Given the description of an element on the screen output the (x, y) to click on. 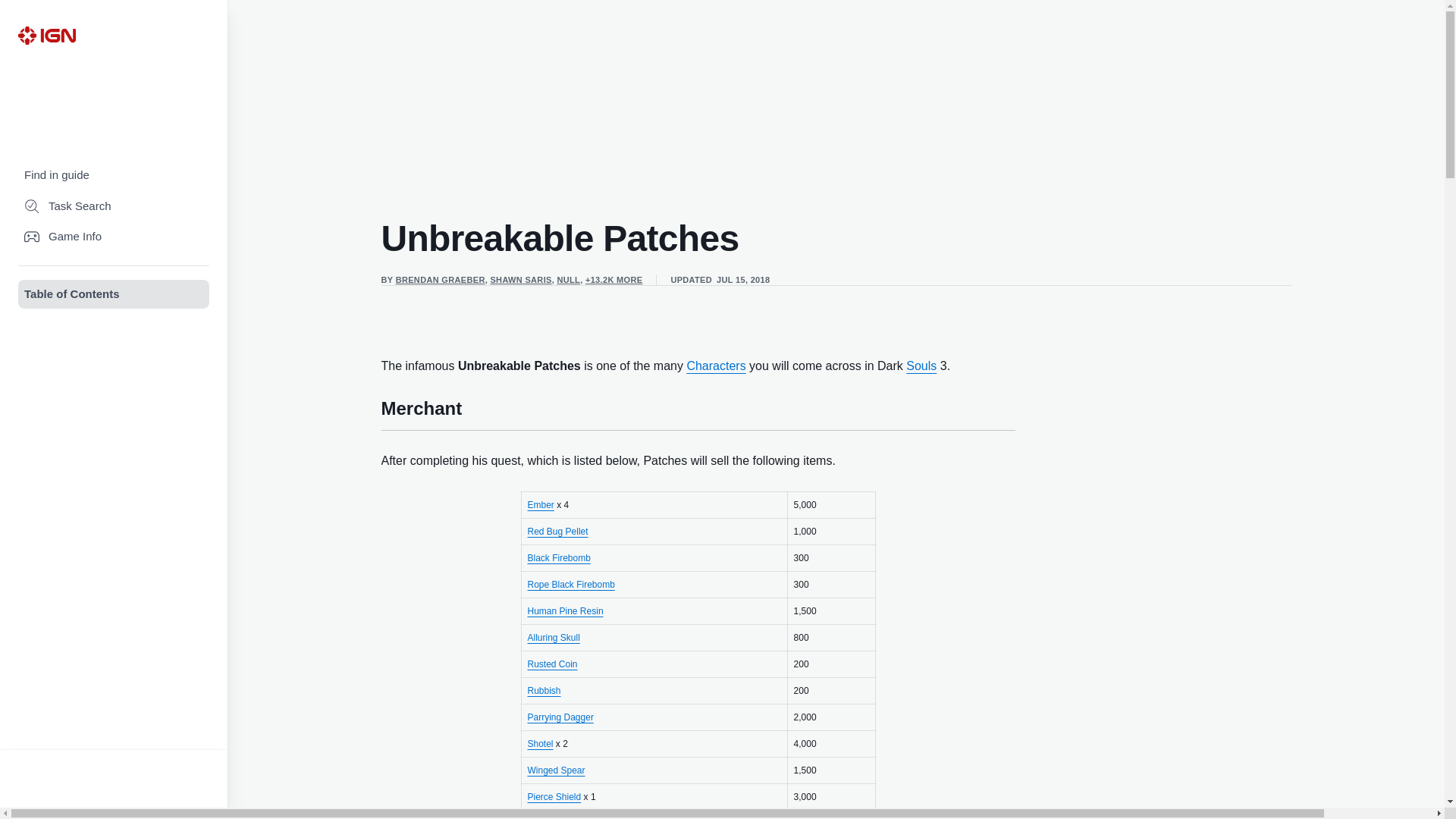
IGN Logo (46, 35)
Task Search (113, 206)
IGN Logo (46, 34)
Table of Contents (113, 294)
Find in guide (113, 175)
Game Info (113, 236)
Task Search (113, 206)
IGN (46, 35)
Table of Contents (113, 294)
Find in guide (113, 175)
Game Info (113, 236)
